Given the description of an element on the screen output the (x, y) to click on. 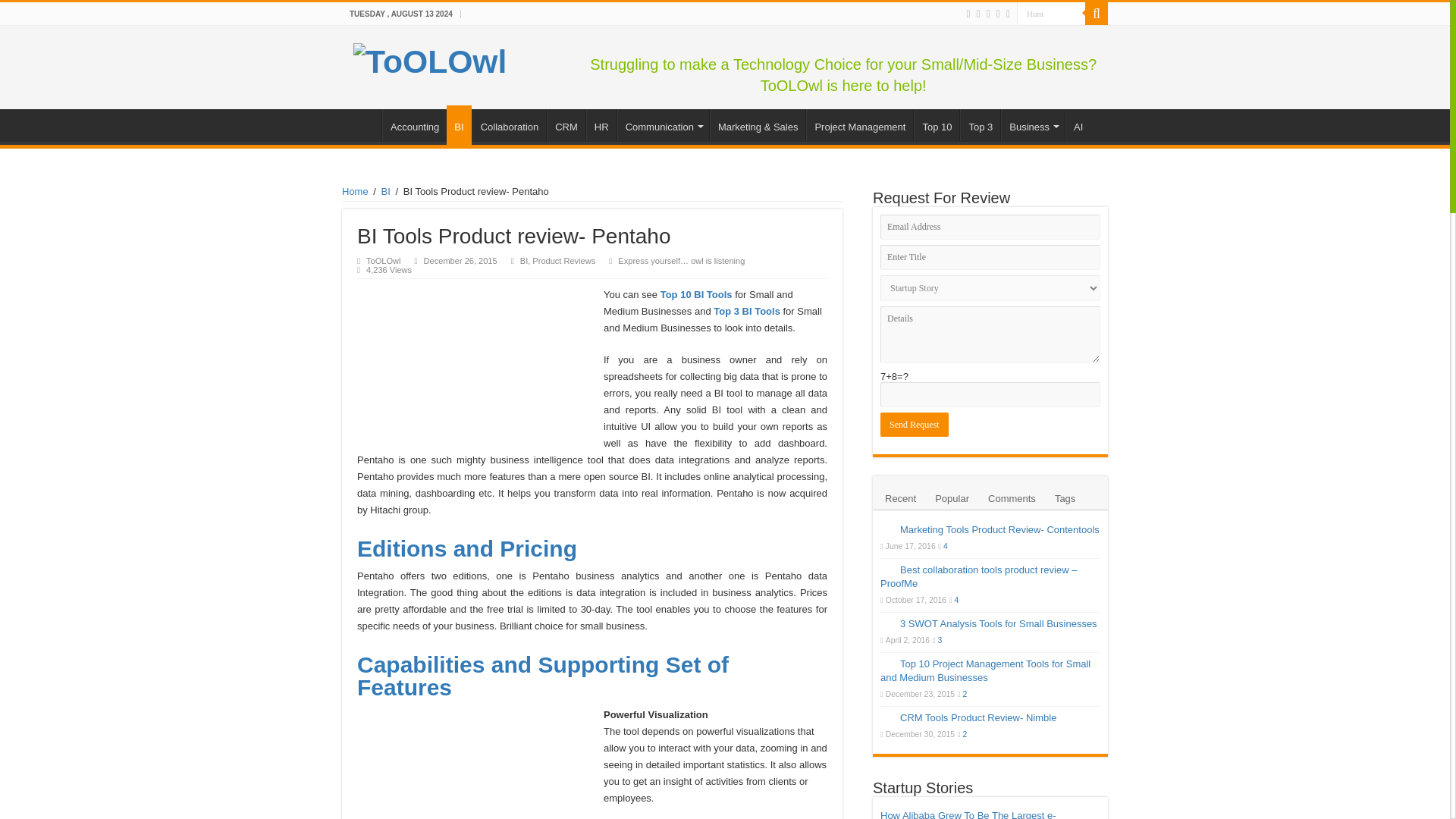
Communication (663, 124)
Hunt (1050, 13)
Accounting (413, 124)
Top 3 (979, 124)
Home (361, 124)
HR (600, 124)
Send Request (914, 424)
Top 10 (936, 124)
CRM (566, 124)
Hunt (1050, 13)
